Given the description of an element on the screen output the (x, y) to click on. 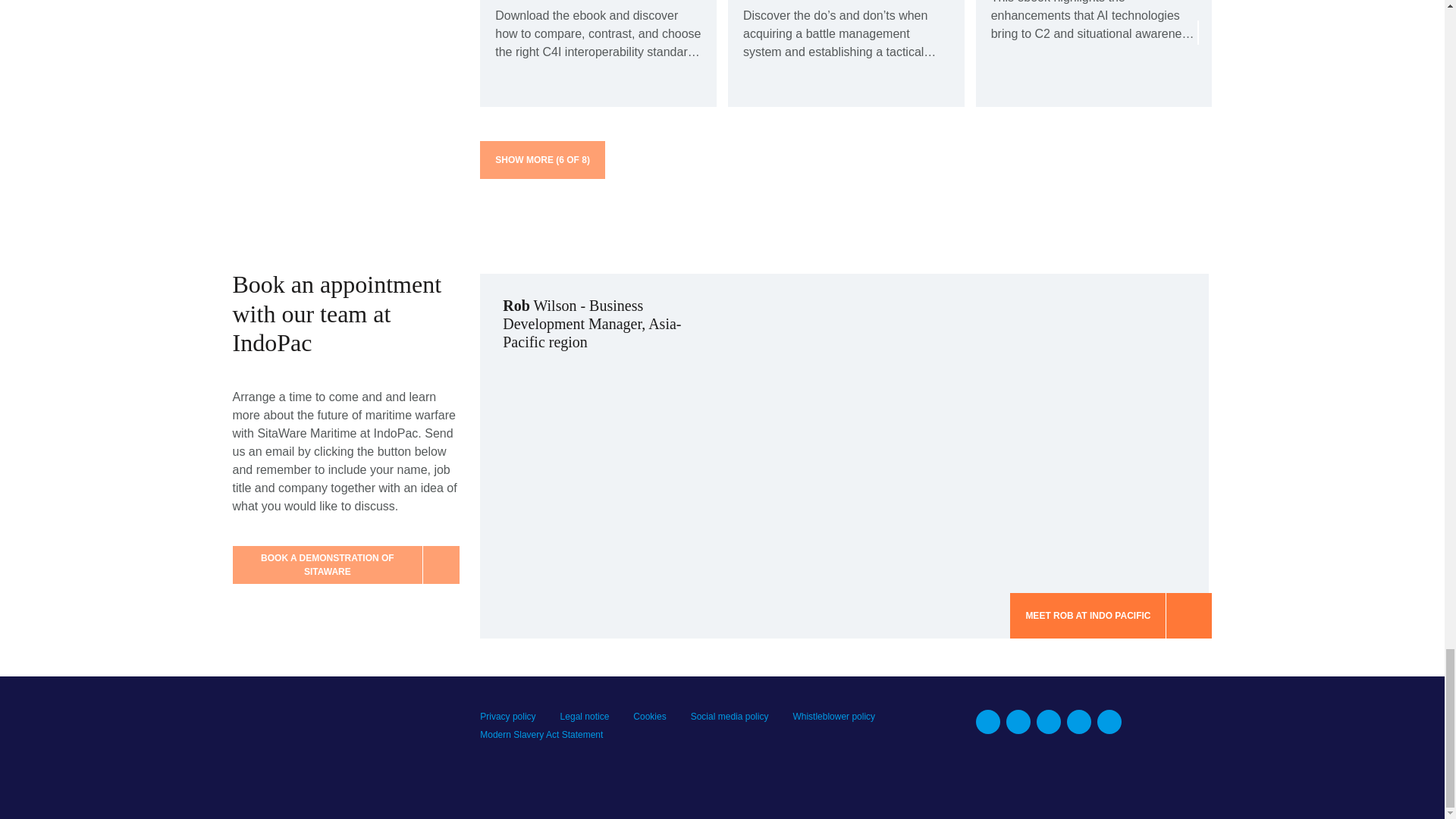
Twitter (1048, 721)
Linkedin (987, 721)
Facebook (1018, 721)
Youtube (1078, 721)
Instagram (1109, 721)
